Given the description of an element on the screen output the (x, y) to click on. 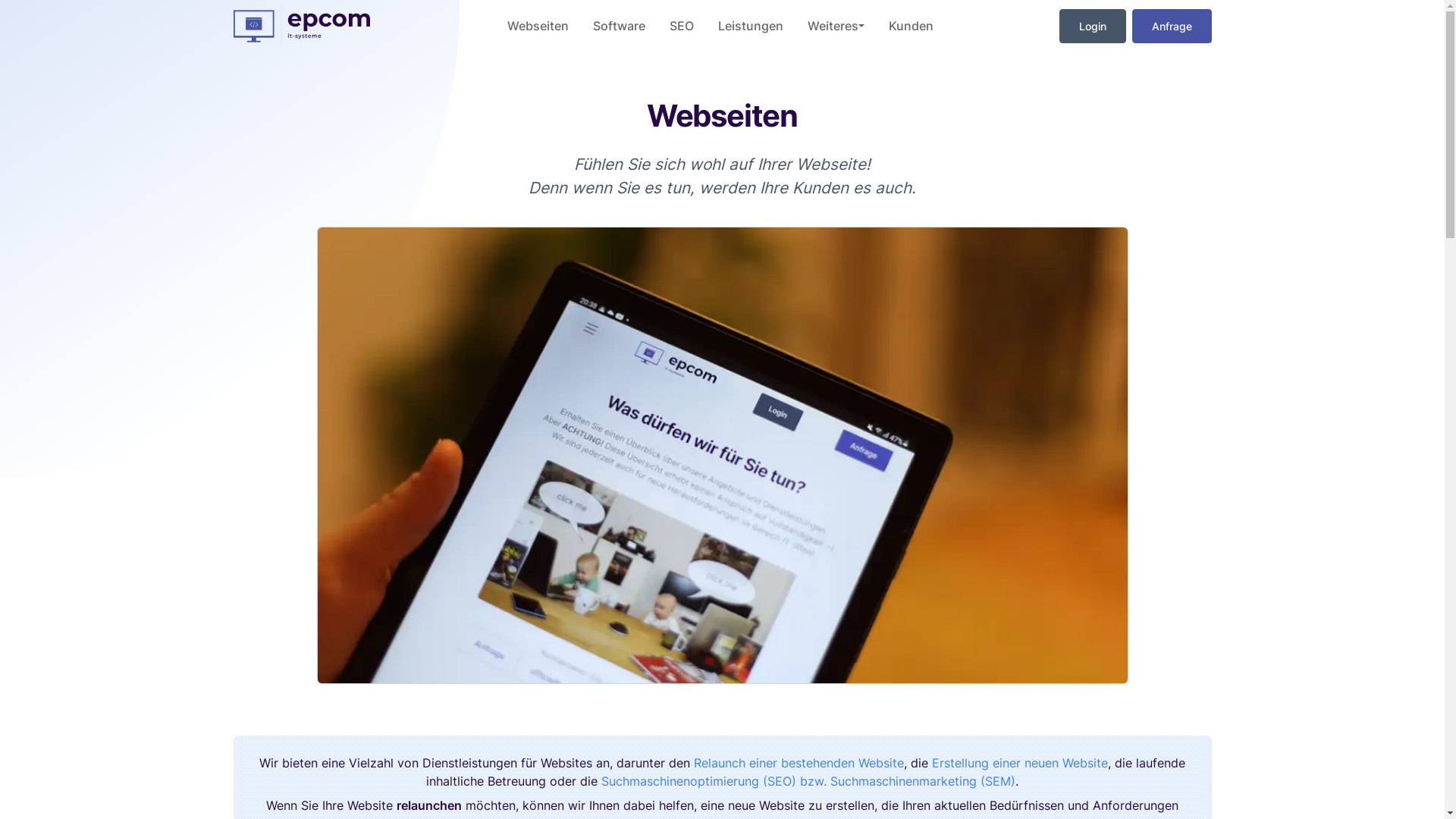
Erstellung einer neuen Website Element type: text (1019, 762)
Webseiten Element type: text (537, 26)
Kunden Element type: text (910, 26)
Relaunch einer bestehenden Website Element type: text (798, 762)
SEO Element type: text (681, 26)
Login Element type: text (1092, 26)
Weiteres Element type: text (835, 26)
Leistungen Element type: text (750, 26)
Software Element type: text (618, 26)
Anfrage Element type: text (1171, 26)
